Given the description of an element on the screen output the (x, y) to click on. 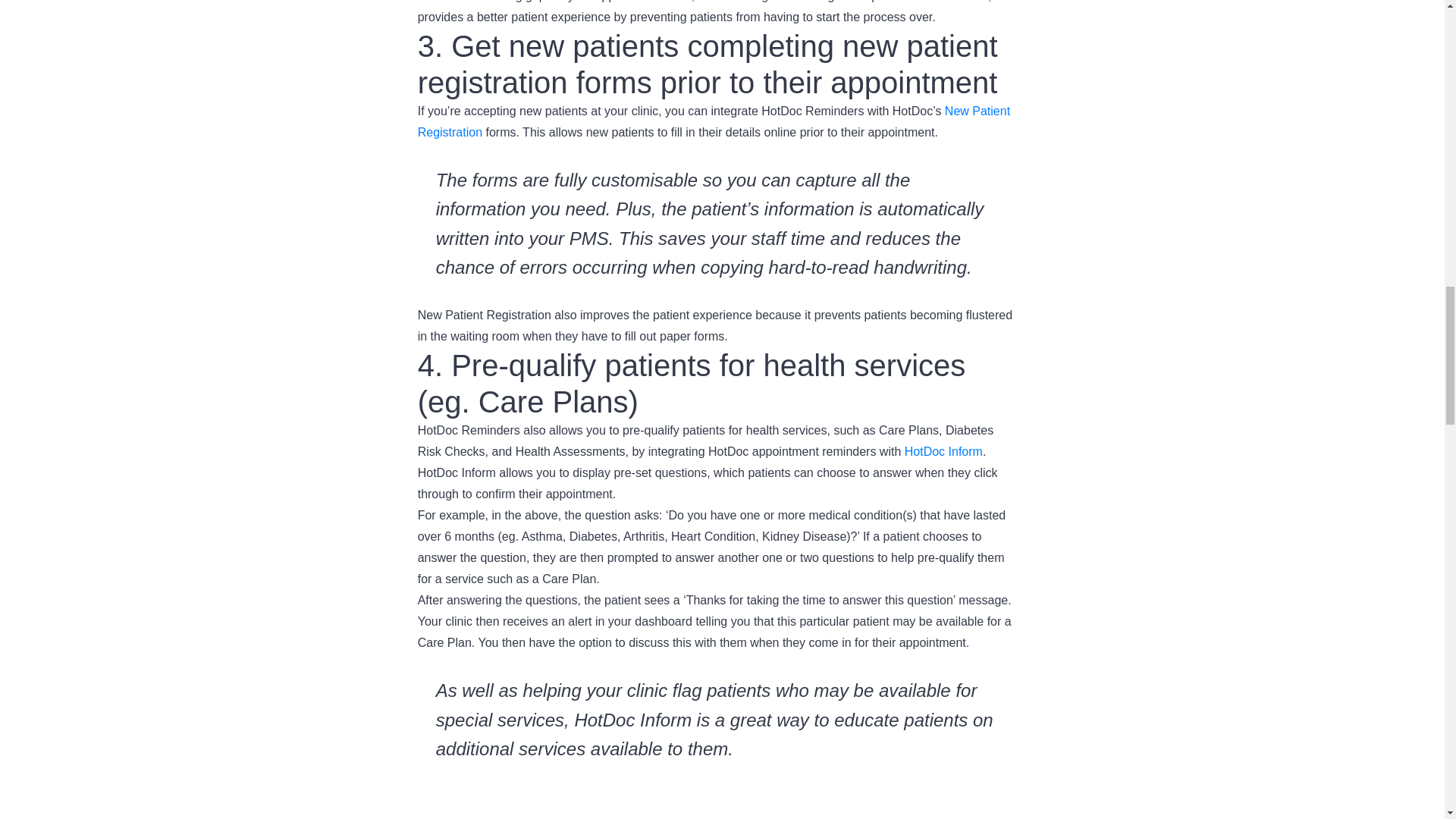
New Patient Registration (713, 121)
HotDoc Inform (943, 451)
